Given the description of an element on the screen output the (x, y) to click on. 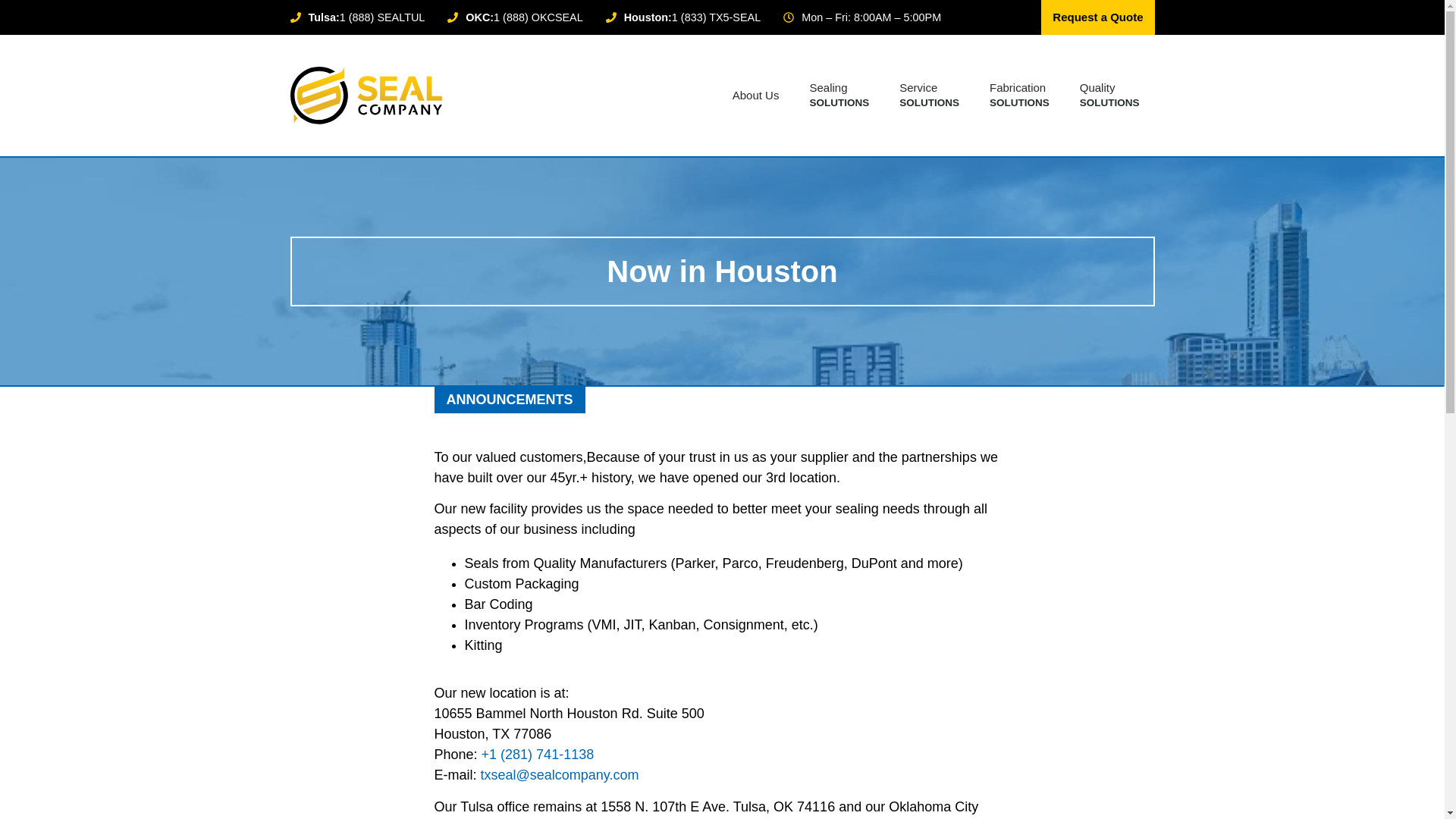
Call our Houston sales office. (537, 754)
Contact us using our contact page. (559, 774)
Request a Quote (1097, 17)
